Given the description of an element on the screen output the (x, y) to click on. 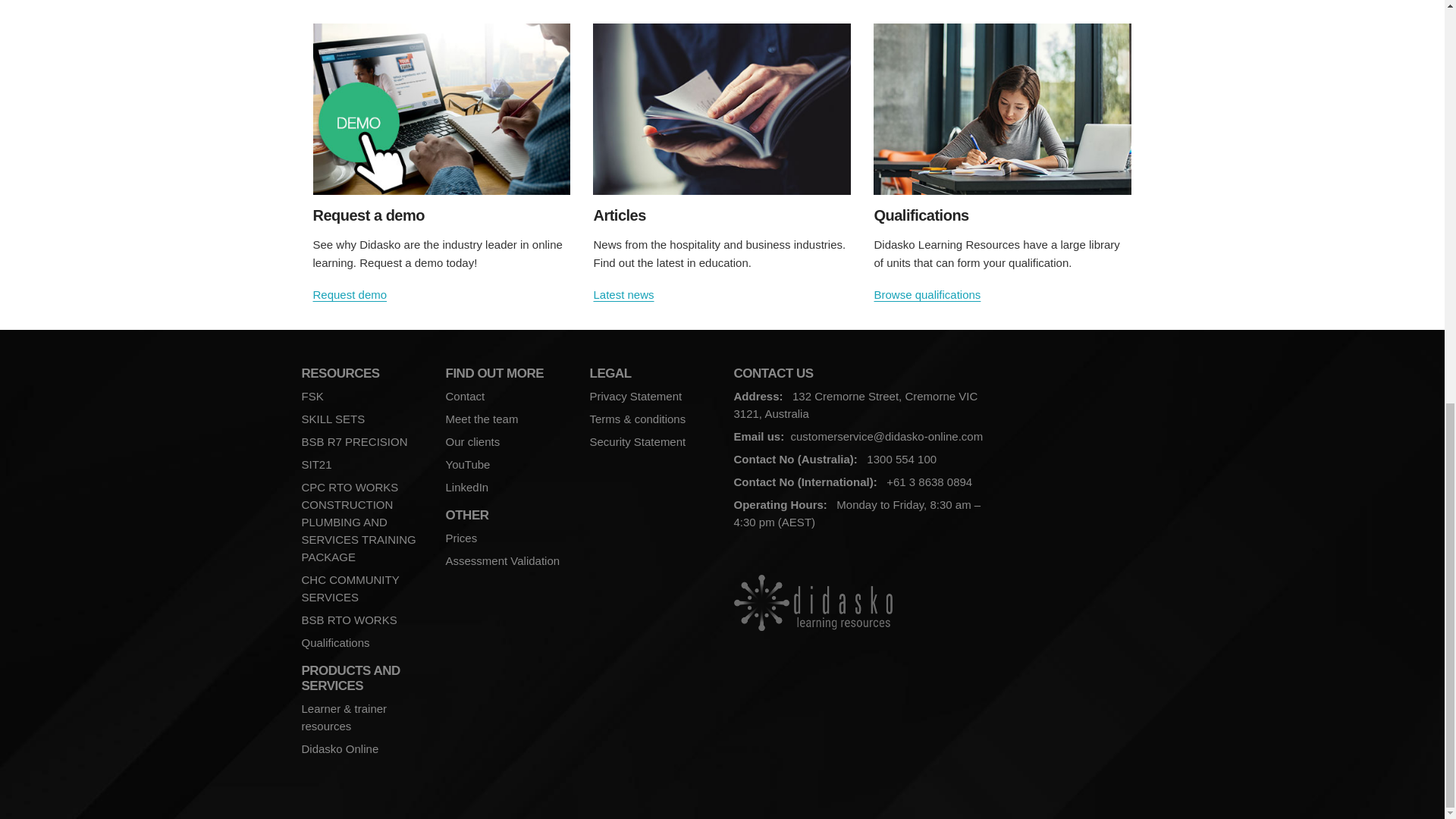
Request demo (441, 113)
BSB RTO WORKS (349, 619)
Qualifications (335, 642)
Didasko Support (622, 294)
Latest news (622, 294)
BSB R7 PRECISION (354, 440)
Browse qualifications (926, 294)
SIT21 (316, 463)
Request demo (350, 294)
Browse qualifications (1002, 113)
Latest news from Didasko (721, 113)
CHC COMMUNITY SERVICES (349, 588)
SKILL SETS (333, 418)
Request demo (350, 294)
FSK (312, 395)
